Given the description of an element on the screen output the (x, y) to click on. 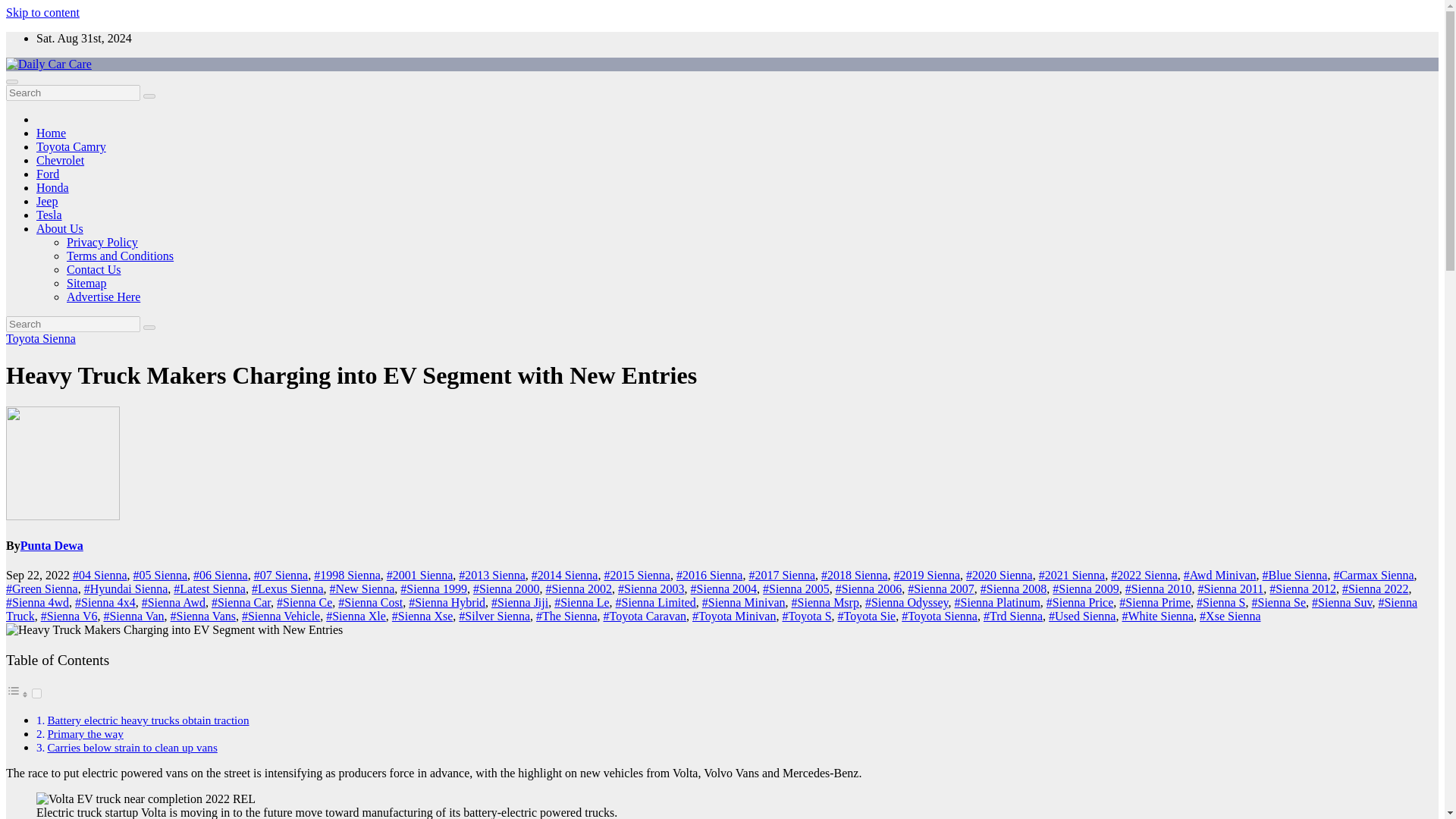
Privacy Policy (102, 241)
Heavy Truck Makers Charging into EV Segment with New Entries (173, 630)
Heavy Truck Makers Charging into EV Segment with New Entries (351, 375)
Chevrolet (60, 160)
Terms and Conditions (119, 255)
Toyota Sienna (40, 338)
Punta Dewa (51, 545)
Ford (47, 173)
Skip to content (42, 11)
